Given the description of an element on the screen output the (x, y) to click on. 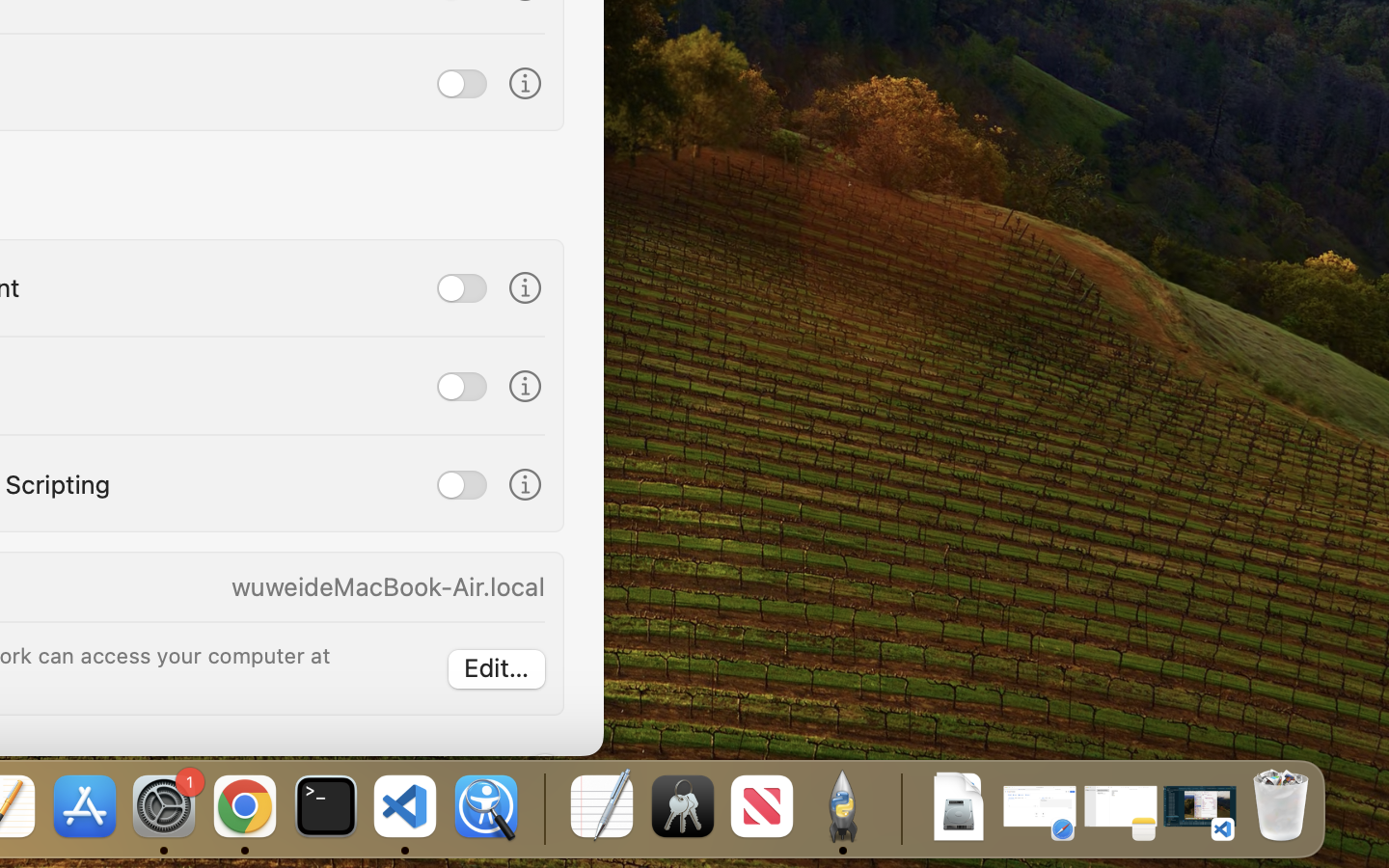
wuweideMacBook-Air.local Element type: AXStaticText (387, 585)
0.4285714328289032 Element type: AXDockItem (541, 807)
